Given the description of an element on the screen output the (x, y) to click on. 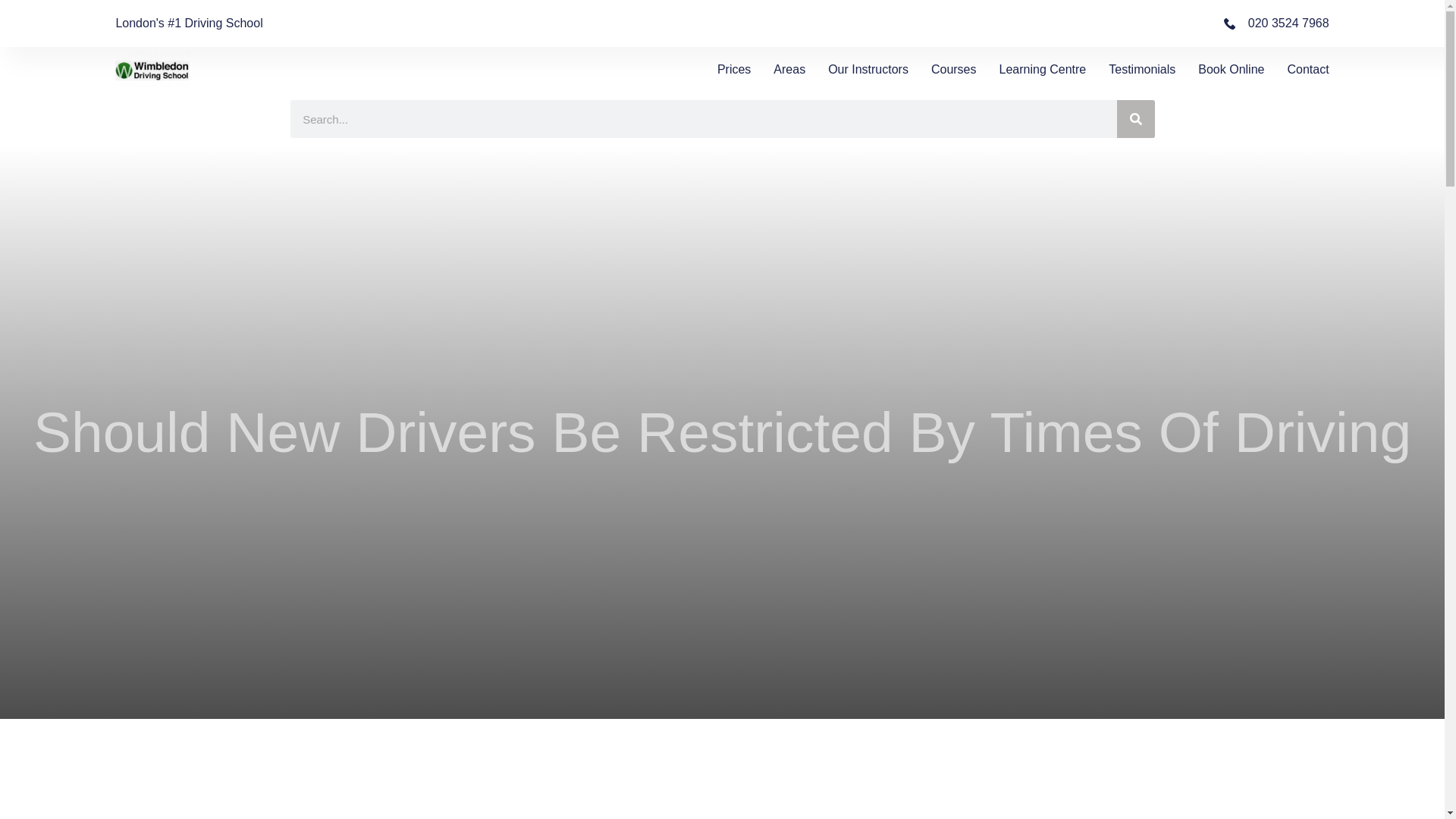
Testimonials (1141, 69)
Our Instructors (868, 69)
Prices (734, 69)
020 3524 7968 (1276, 23)
Learning Centre (1042, 69)
Book Online (1230, 69)
Areas (789, 69)
Contact (1307, 69)
Courses (953, 69)
